Given the description of an element on the screen output the (x, y) to click on. 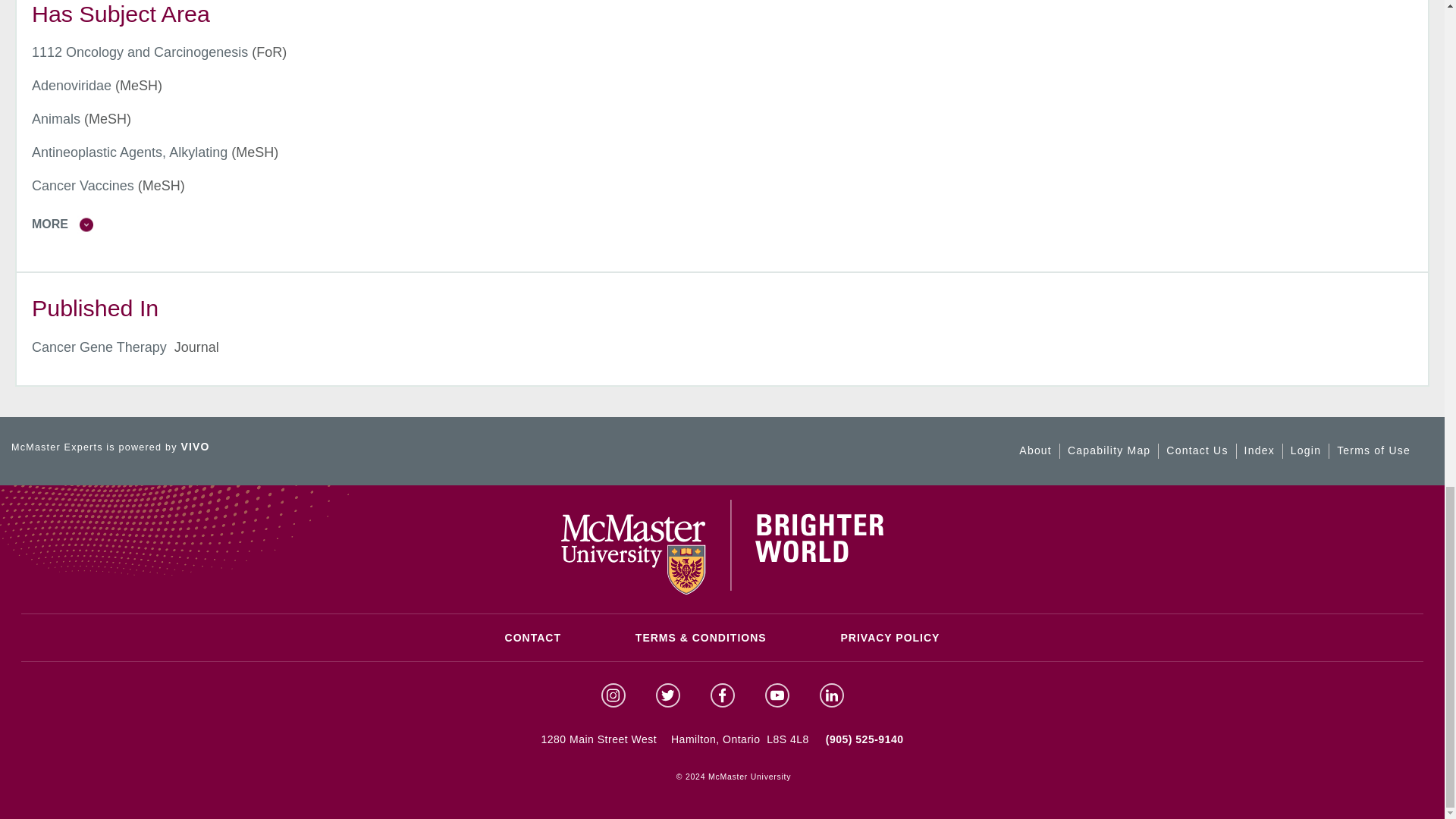
concept name (56, 118)
concept name (72, 85)
concept name (139, 52)
